Given the description of an element on the screen output the (x, y) to click on. 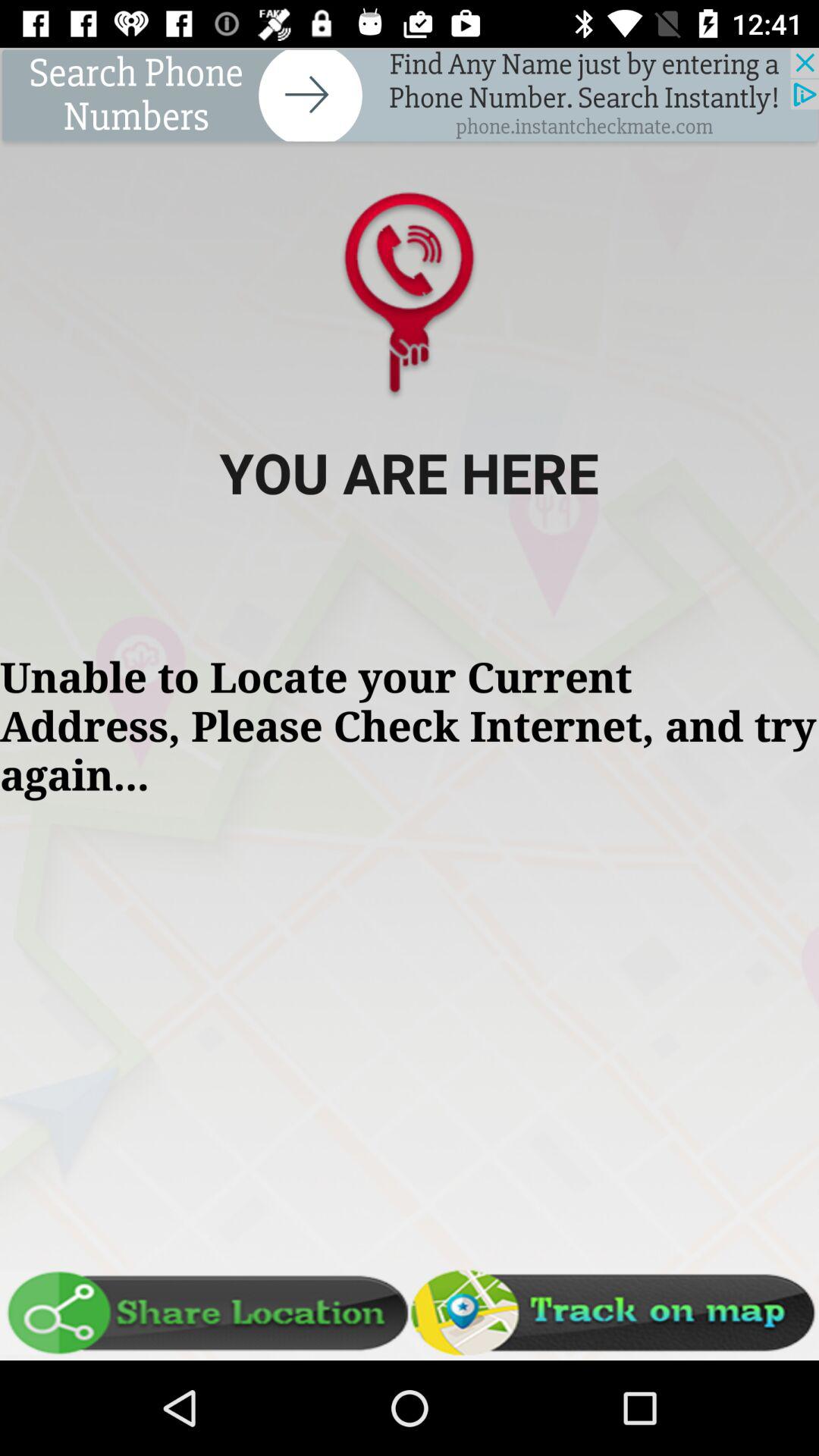
advertisement (409, 97)
